Given the description of an element on the screen output the (x, y) to click on. 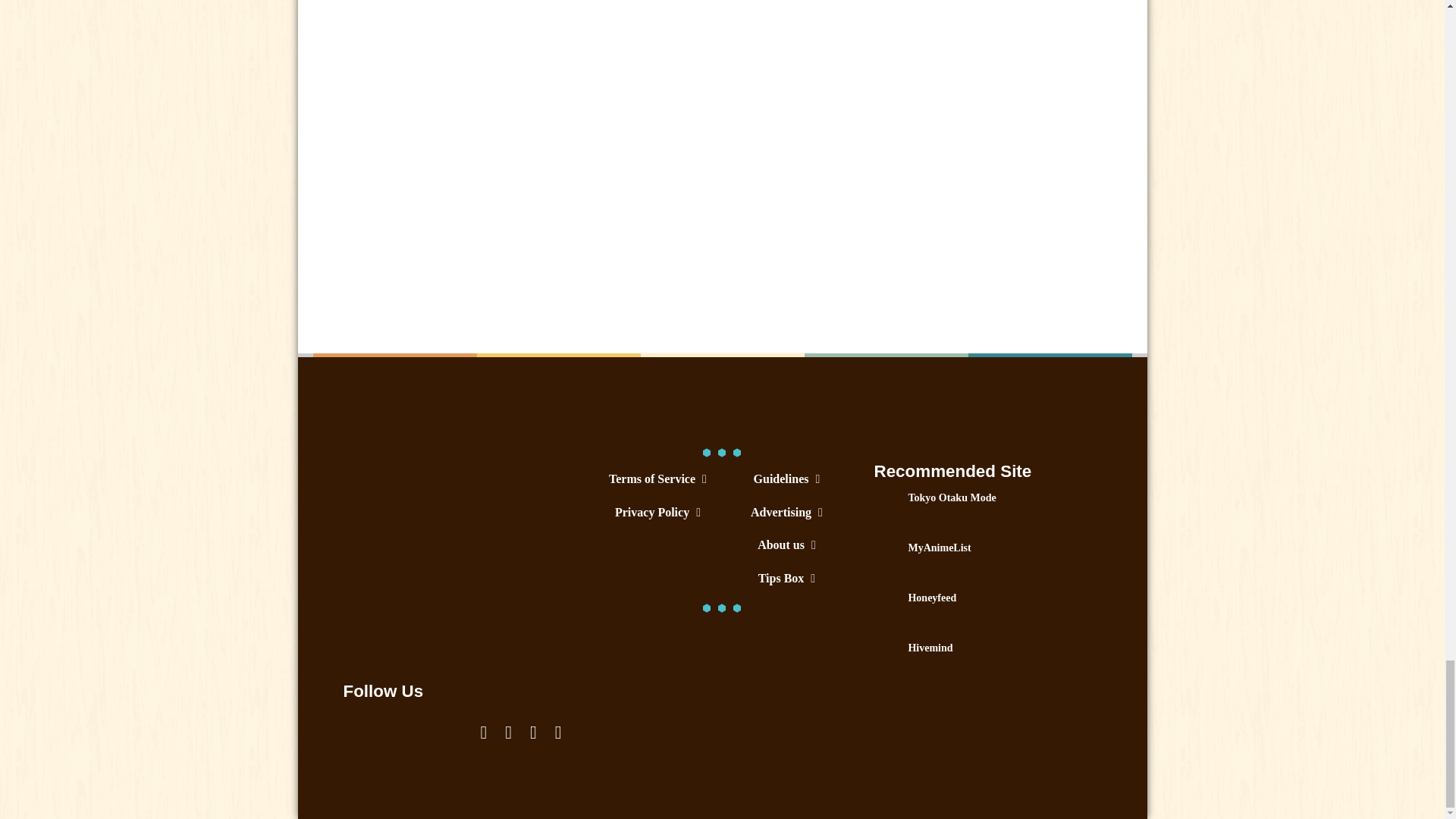
Guidelines (786, 478)
Terms of Service (657, 478)
Guidelines (786, 478)
Advertising (786, 512)
Privacy Policy (657, 512)
Privacy Policy (657, 512)
Terms of Service Agreement (657, 478)
